Given the description of an element on the screen output the (x, y) to click on. 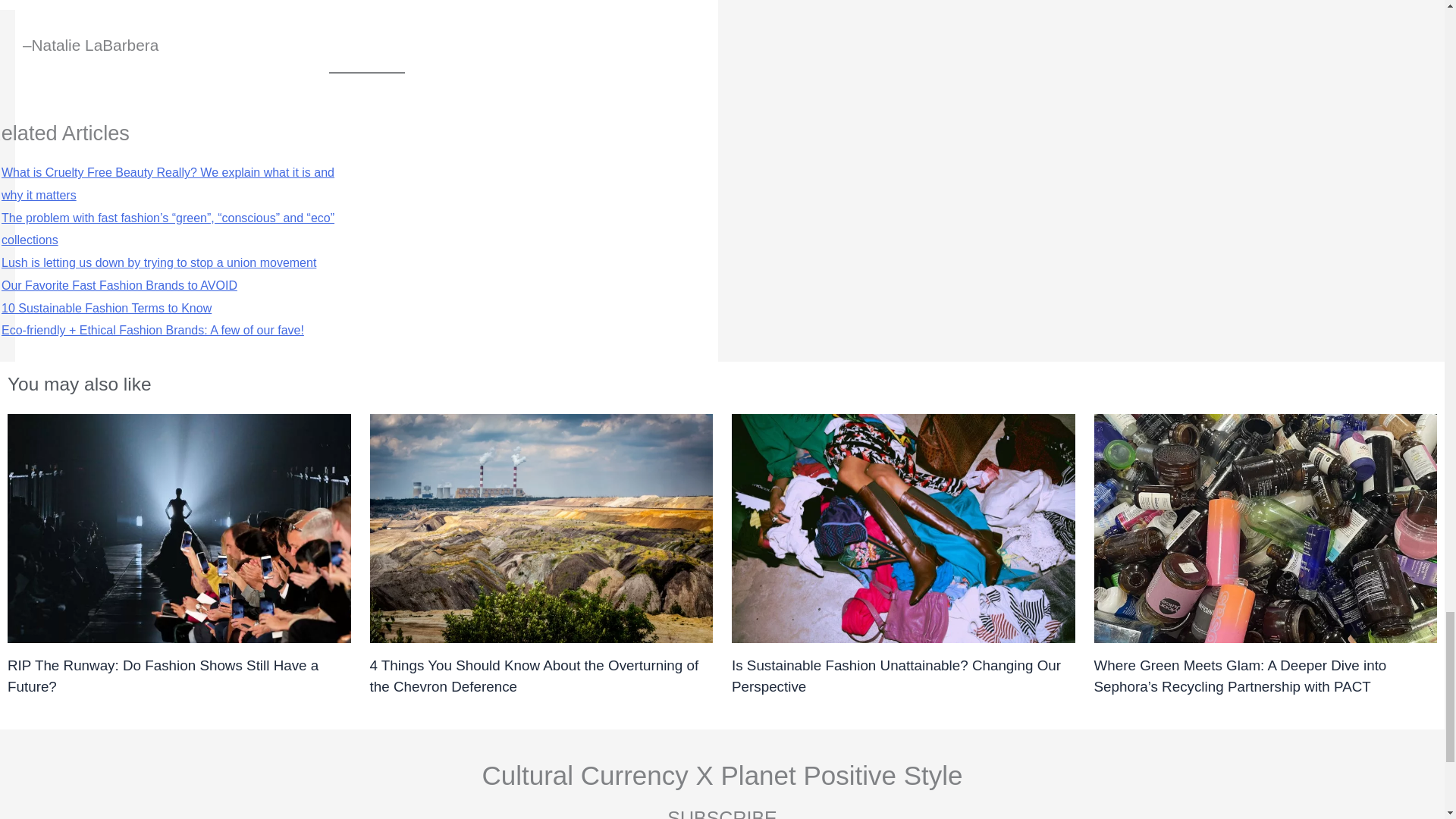
10 Sustainable Fashion Terms to Know (106, 308)
Our Favorite Fast Fashion Brands to AVOID (119, 285)
Lush is letting us down by trying to stop a union movement (158, 262)
